Given the description of an element on the screen output the (x, y) to click on. 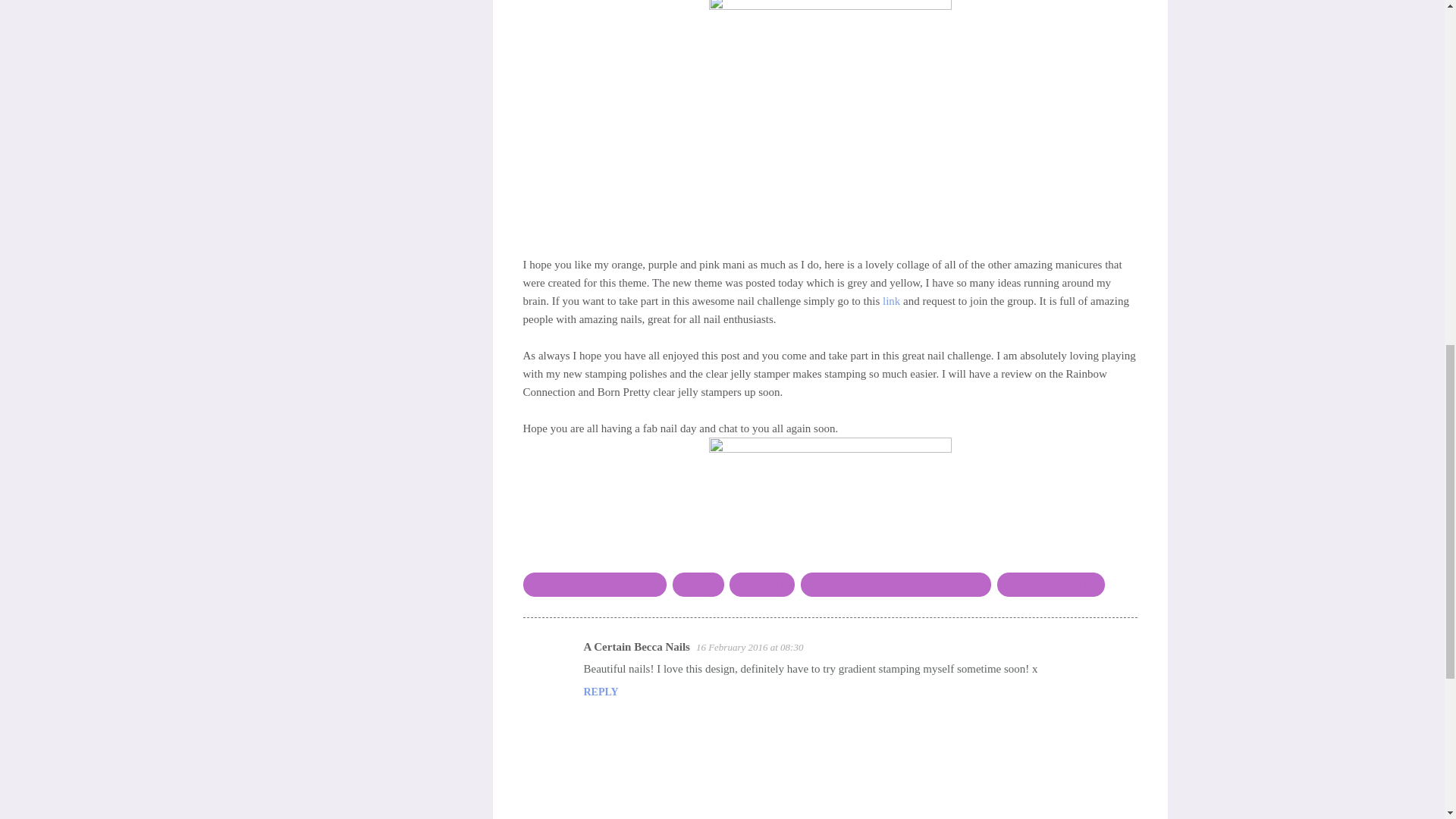
Cassella (697, 583)
REPLY (600, 691)
A Certain Becca Nails (636, 646)
16 February 2016 at 08:30 (749, 646)
when colours collide (1050, 583)
rainbow connection clear jelly stamper (895, 583)
fab ur nails (761, 583)
Born Pretty Stamping polish (594, 583)
link (890, 300)
